Given the description of an element on the screen output the (x, y) to click on. 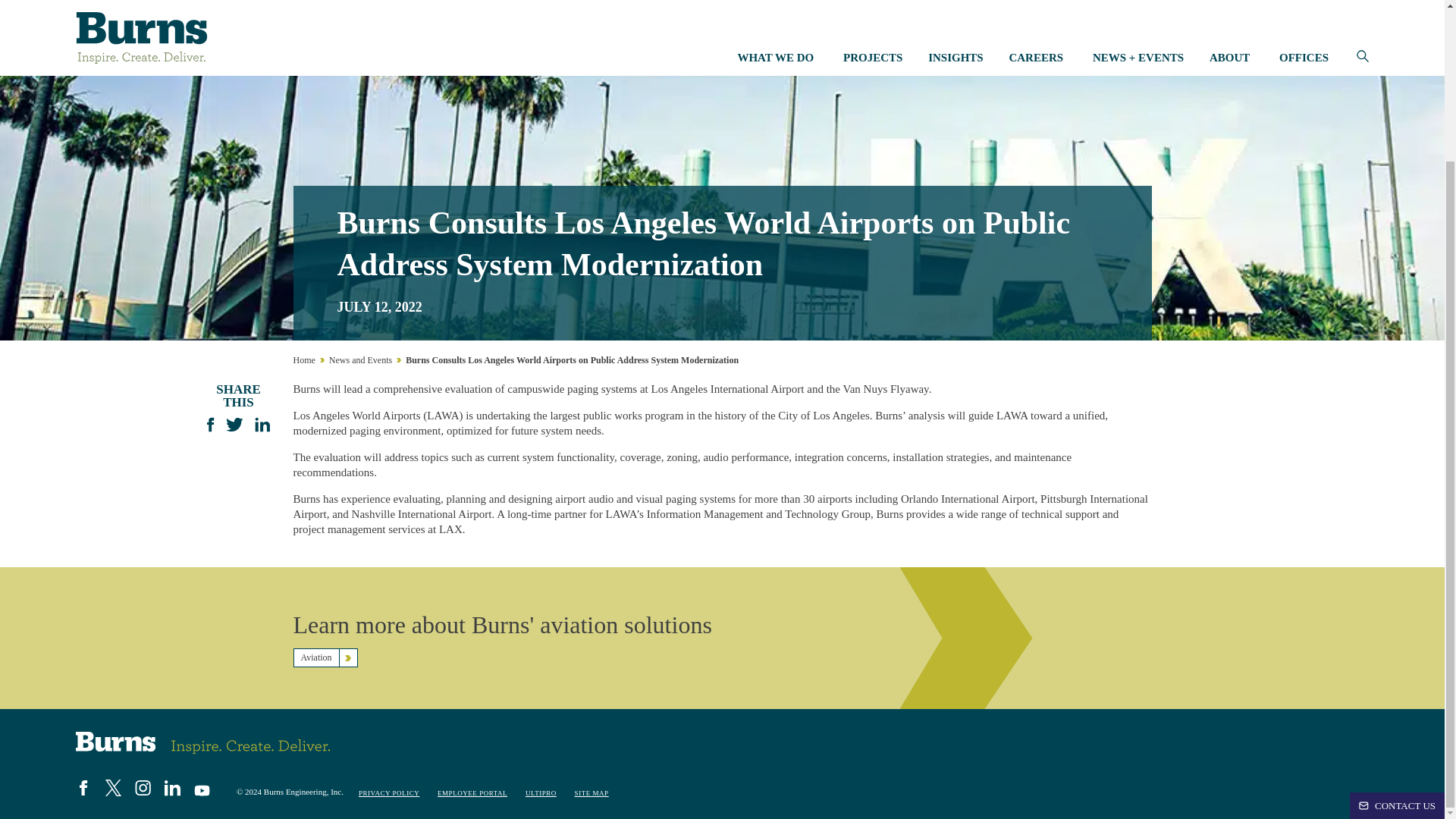
Go to News and Events. (360, 359)
Go to Burns Engineering. (303, 359)
